Given the description of an element on the screen output the (x, y) to click on. 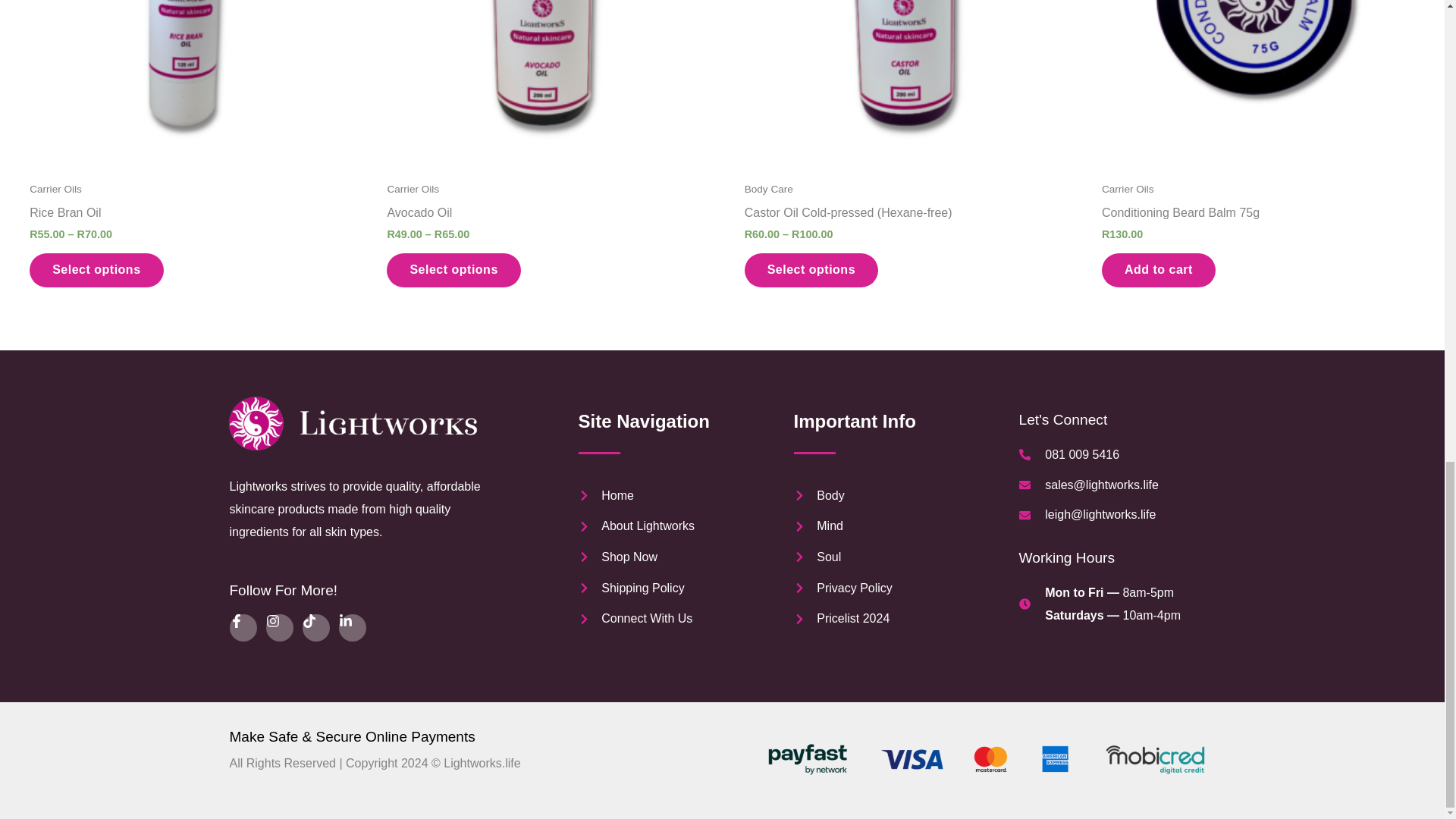
Select options (96, 270)
Rice Bran Oil (185, 216)
